Given the description of an element on the screen output the (x, y) to click on. 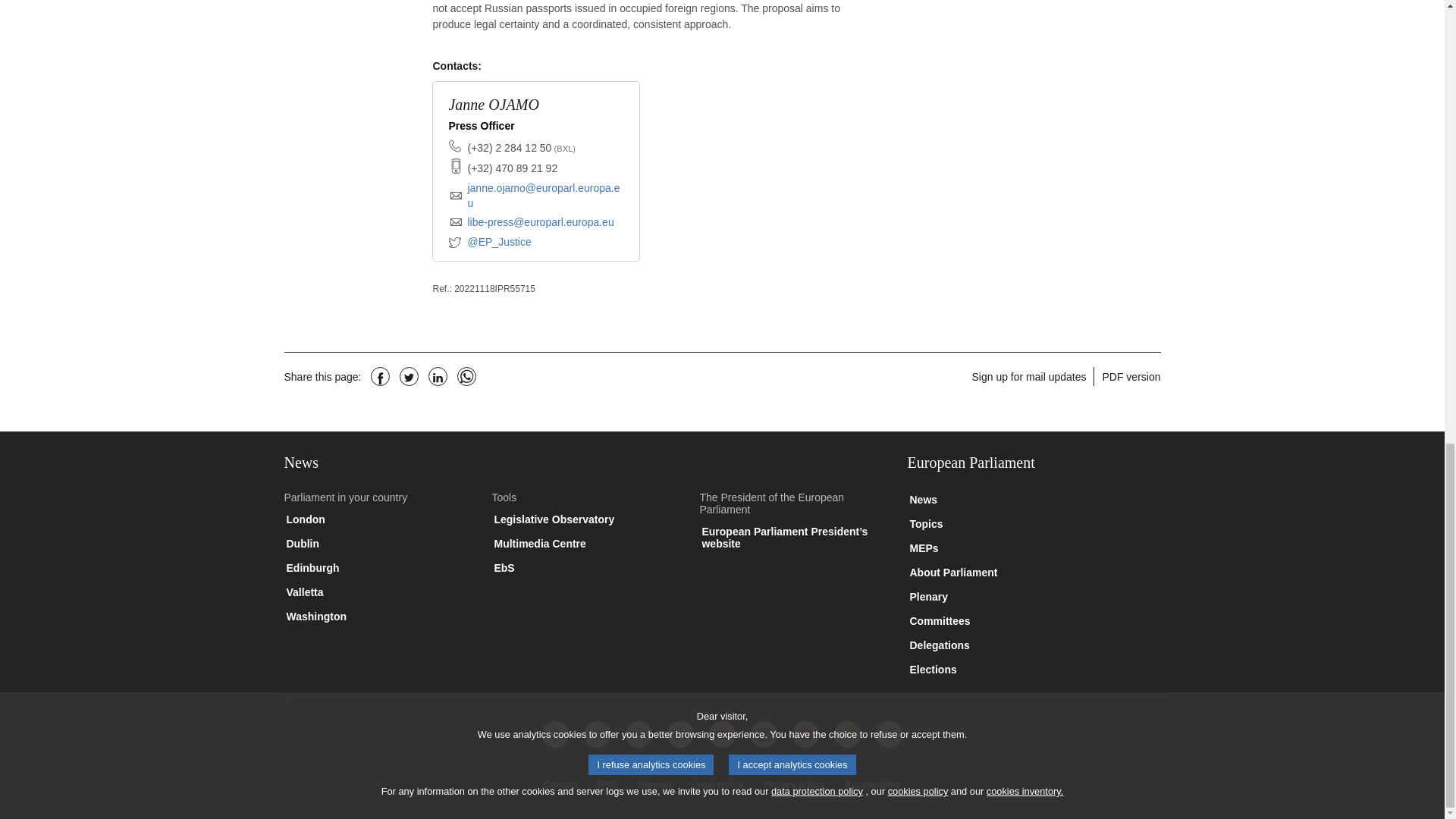
Mobile number (512, 168)
Phone number (521, 148)
Open a Twitter account in a new window (489, 242)
Share this page on LinkedIn (437, 375)
Product reference (441, 288)
Share this page on Twitter (408, 375)
Brussels (563, 148)
Share this page on Facebook (380, 375)
